Given the description of an element on the screen output the (x, y) to click on. 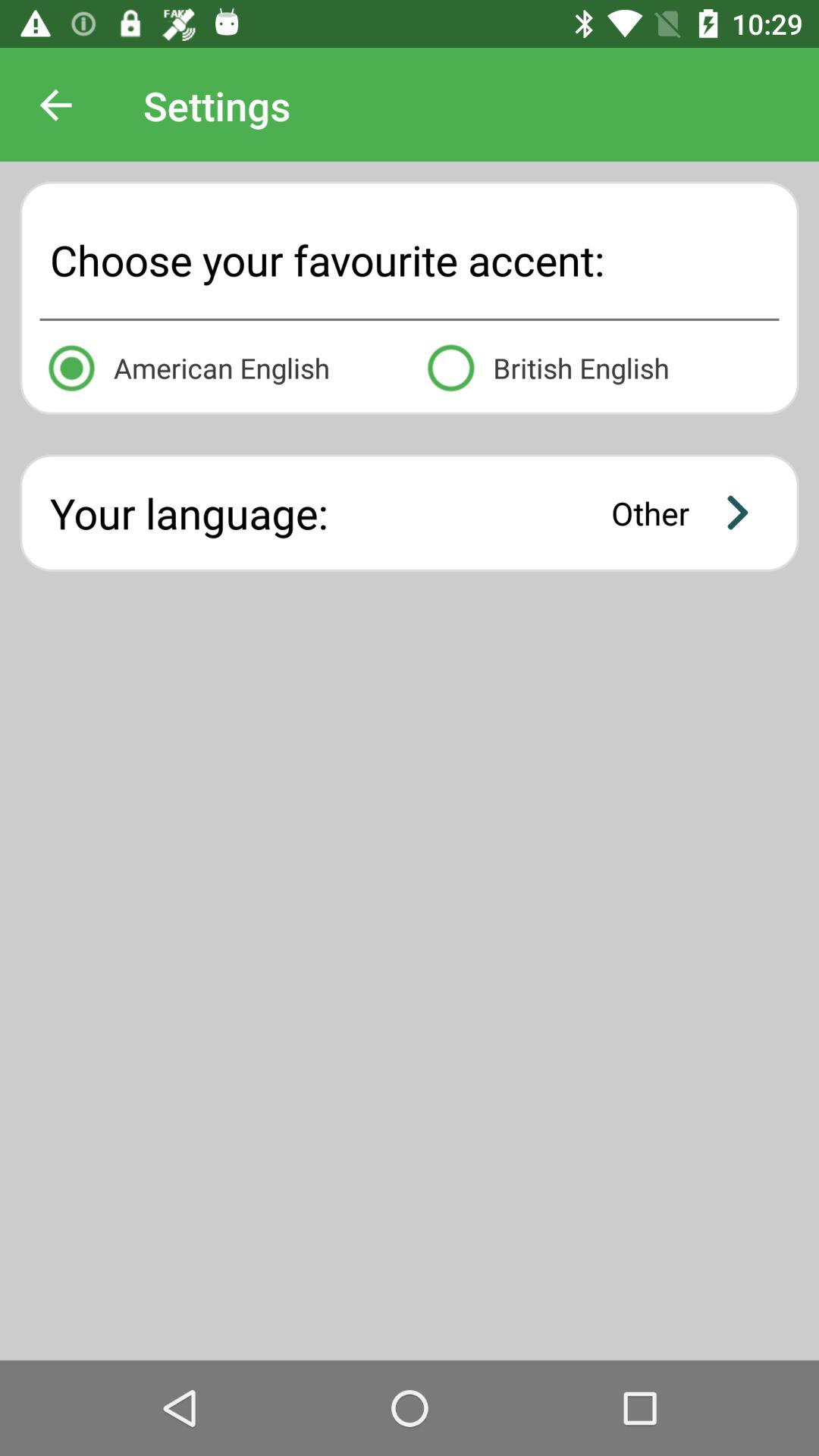
select item above the your language: item (599, 365)
